Given the description of an element on the screen output the (x, y) to click on. 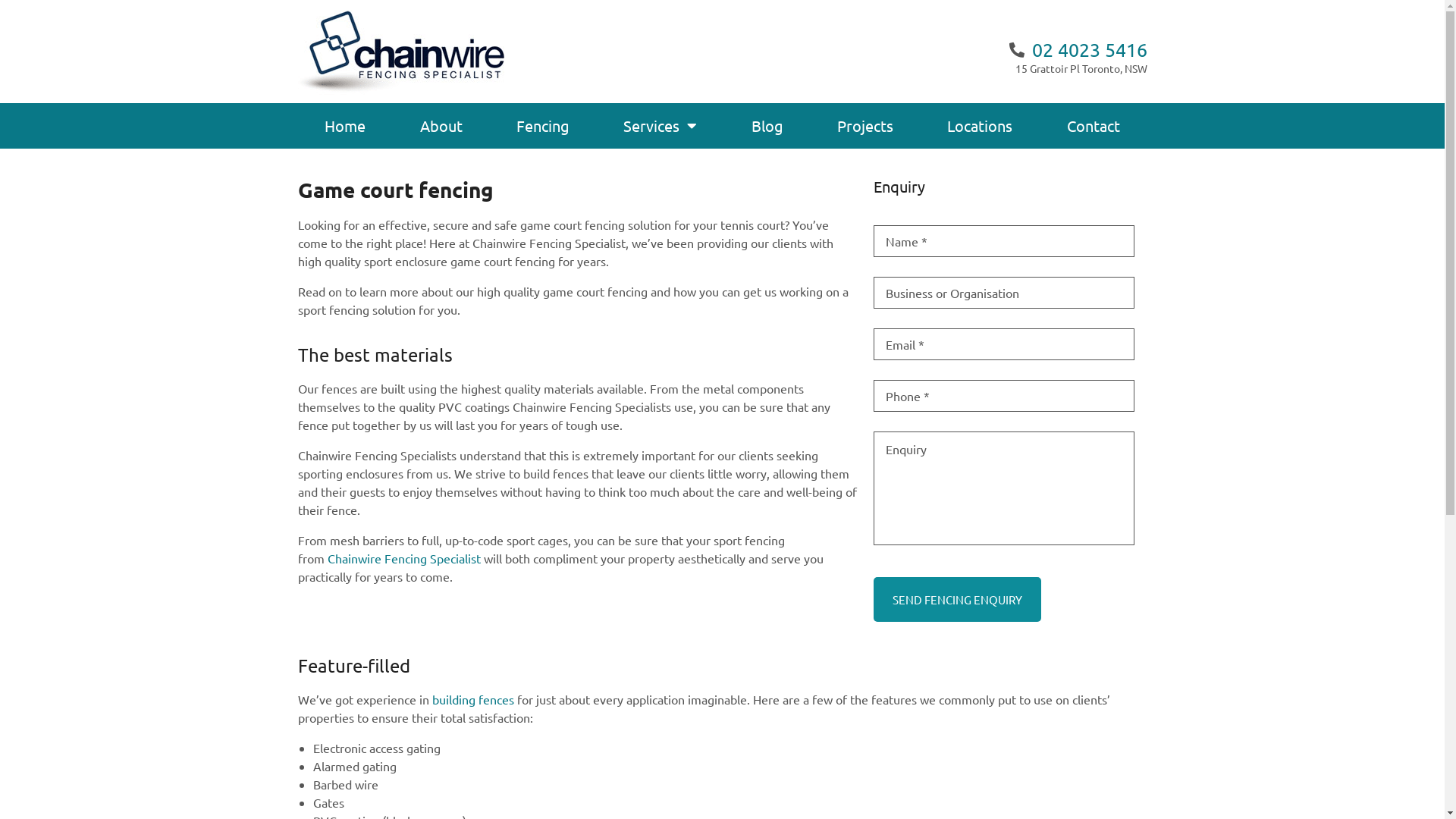
building fences Element type: text (473, 698)
Blog Element type: text (766, 125)
Chainwire Fencing Specialist Element type: text (403, 557)
15 Grattoir Pl Toronto, NSW Element type: text (937, 68)
Locations Element type: text (979, 125)
SEND FENCING ENQUIRY Element type: text (957, 599)
Projects Element type: text (864, 125)
Home Element type: text (344, 125)
About Element type: text (440, 125)
Services Element type: text (660, 125)
02 4023 5416 Element type: text (1077, 49)
Fencing Element type: text (542, 125)
Contact Element type: text (1092, 125)
